Given the description of an element on the screen output the (x, y) to click on. 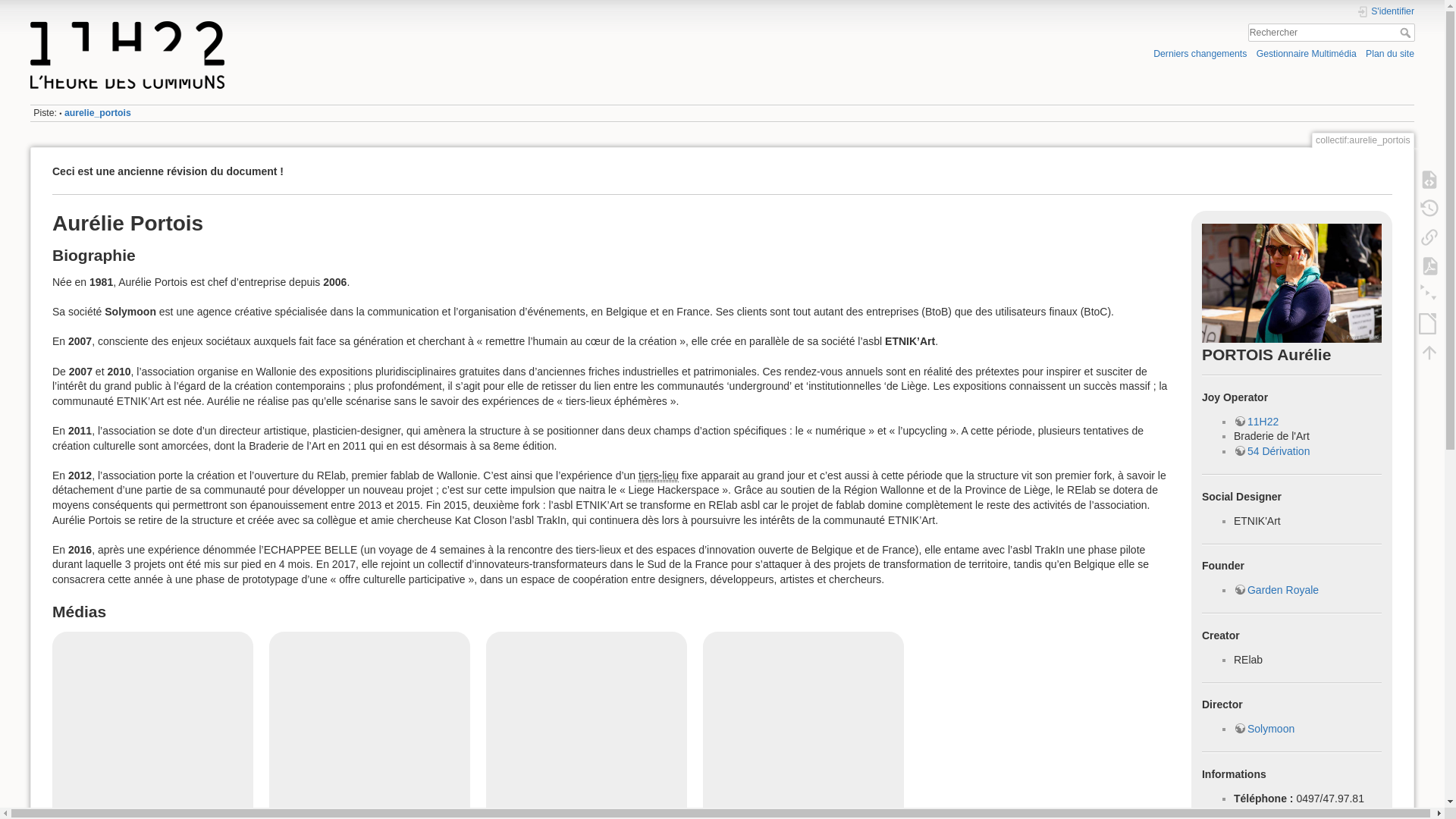
Liens de retour Element type: hover (1429, 236)
Solymoon Element type: text (1263, 728)
Plan du site Element type: text (1389, 53)
Exporter en PDF Element type: hover (1429, 265)
10616349_777393748968860_4012477555217877373_n.jpg Element type: hover (1291, 283)
S'identifier Element type: text (1385, 11)
11H22 Element type: text (1255, 421)
Exportation ODT Element type: hover (1429, 323)
Afficher le texte source [v] Element type: hover (1429, 179)
Derniers changements Element type: text (1199, 53)
[F] Element type: hover (1331, 32)
Garden Royale Element type: text (1275, 589)
aurelie_portois Element type: text (97, 112)
[H] Element type: hover (369, 24)
Haut de page [t] Element type: hover (1429, 352)
Rechercher Element type: text (1406, 32)
